Given the description of an element on the screen output the (x, y) to click on. 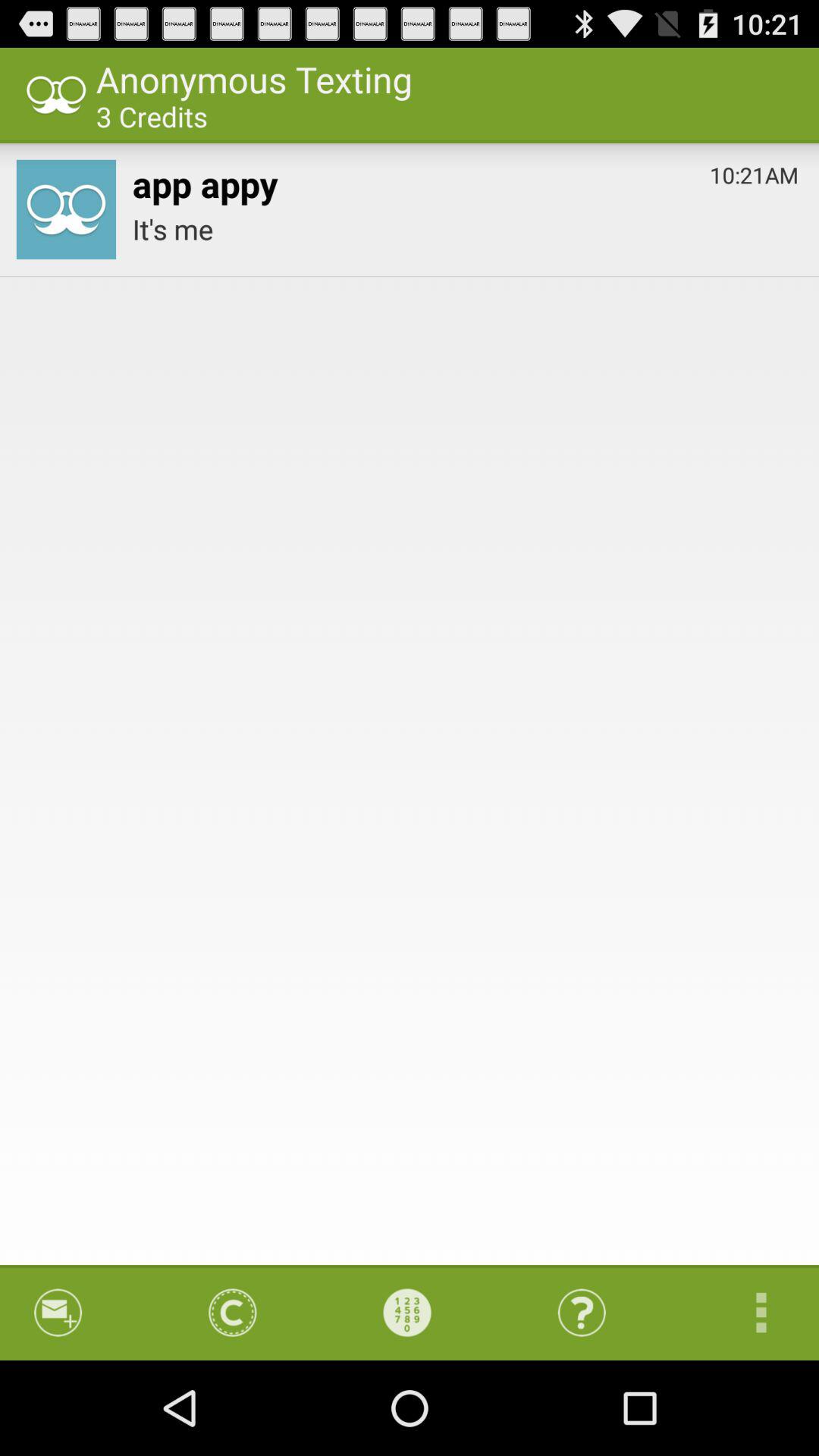
flip until the app appy app (205, 180)
